Given the description of an element on the screen output the (x, y) to click on. 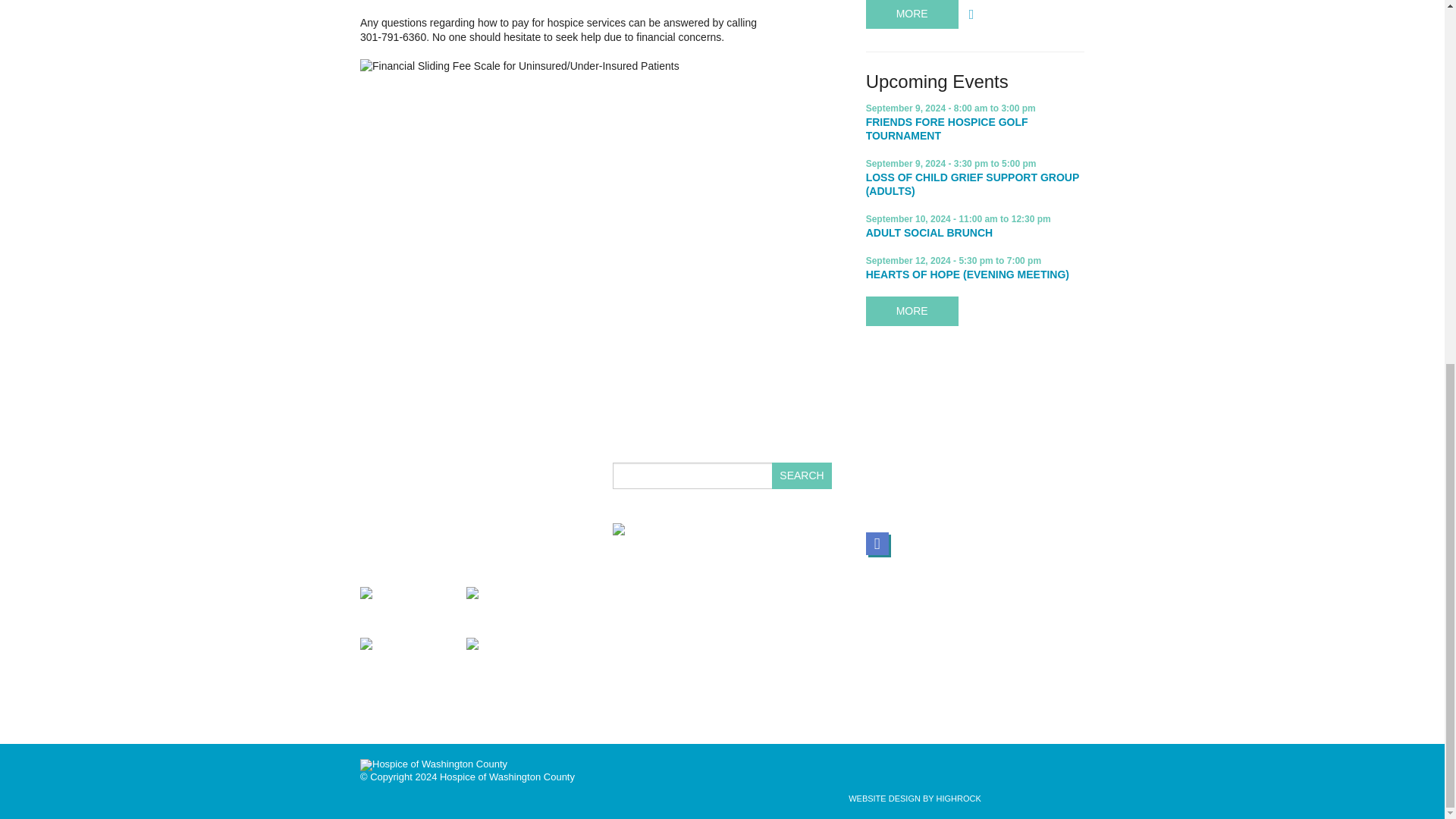
Enter the terms you wish to search for. (721, 475)
Hospice of Washington County (432, 765)
Search (801, 475)
